Given the description of an element on the screen output the (x, y) to click on. 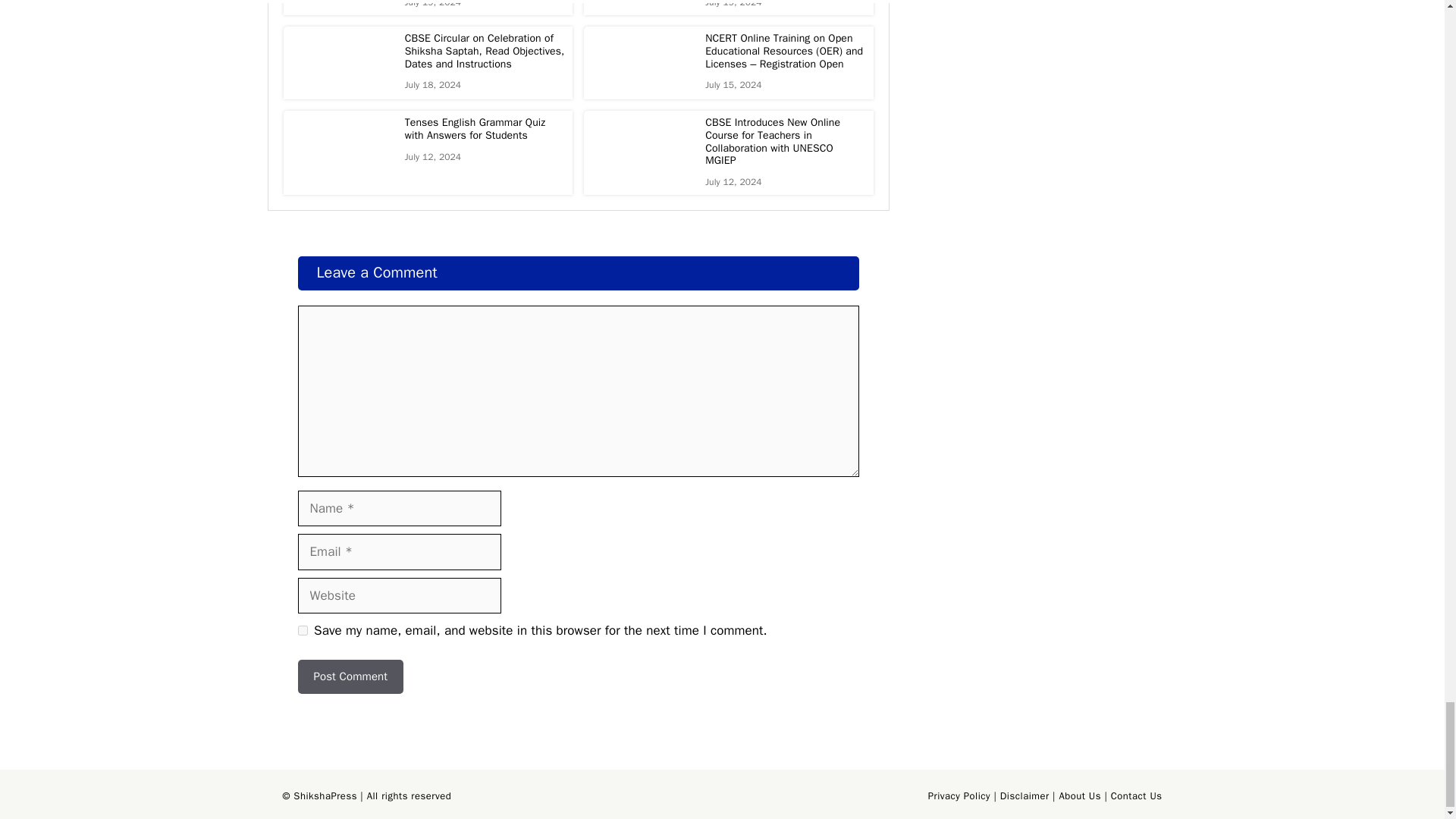
Post Comment (350, 676)
yes (302, 630)
